Given the description of an element on the screen output the (x, y) to click on. 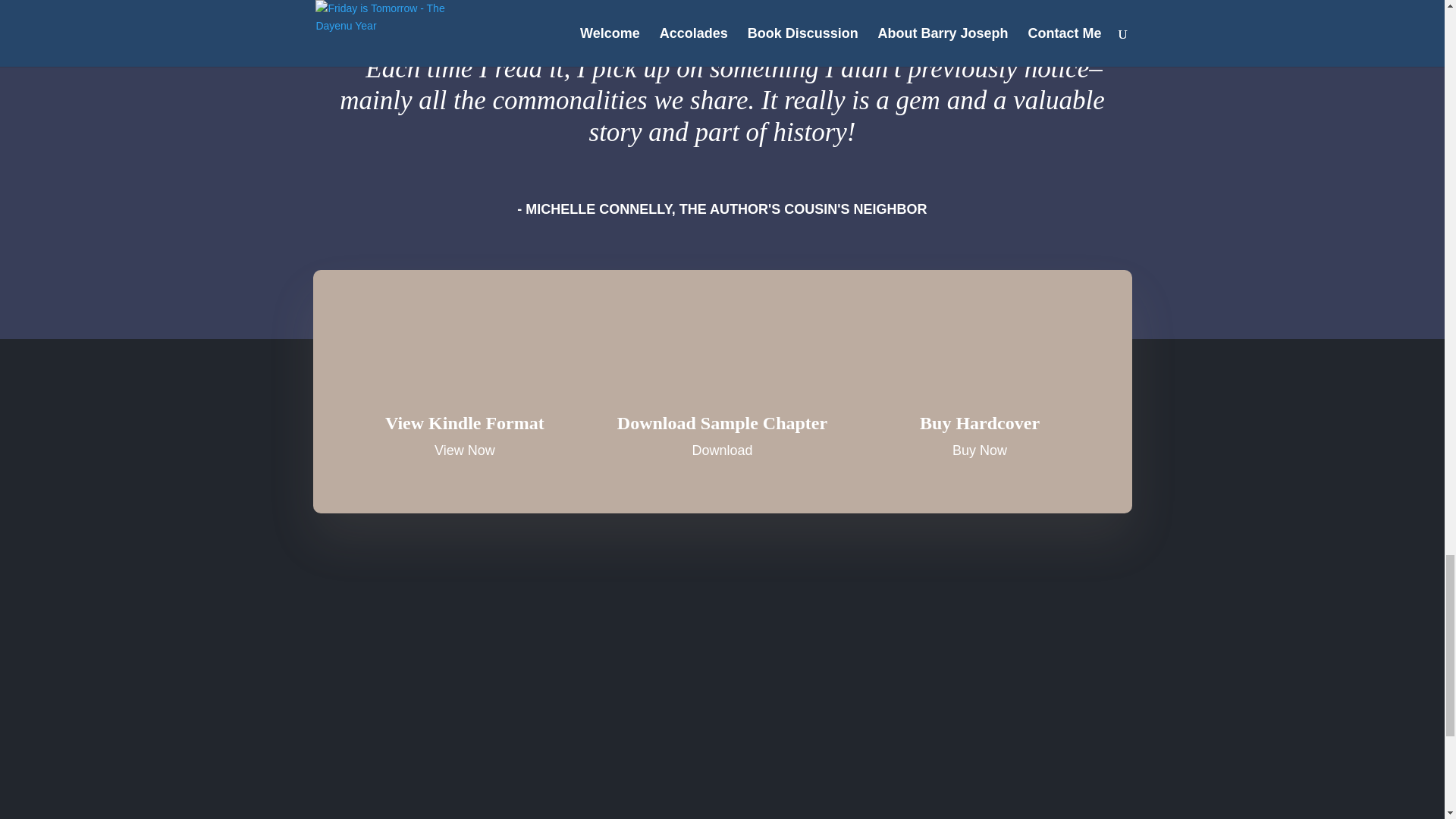
Buy Hardcover (979, 423)
View Kindle Format (464, 423)
Download Sample Chapter (722, 423)
